Given the description of an element on the screen output the (x, y) to click on. 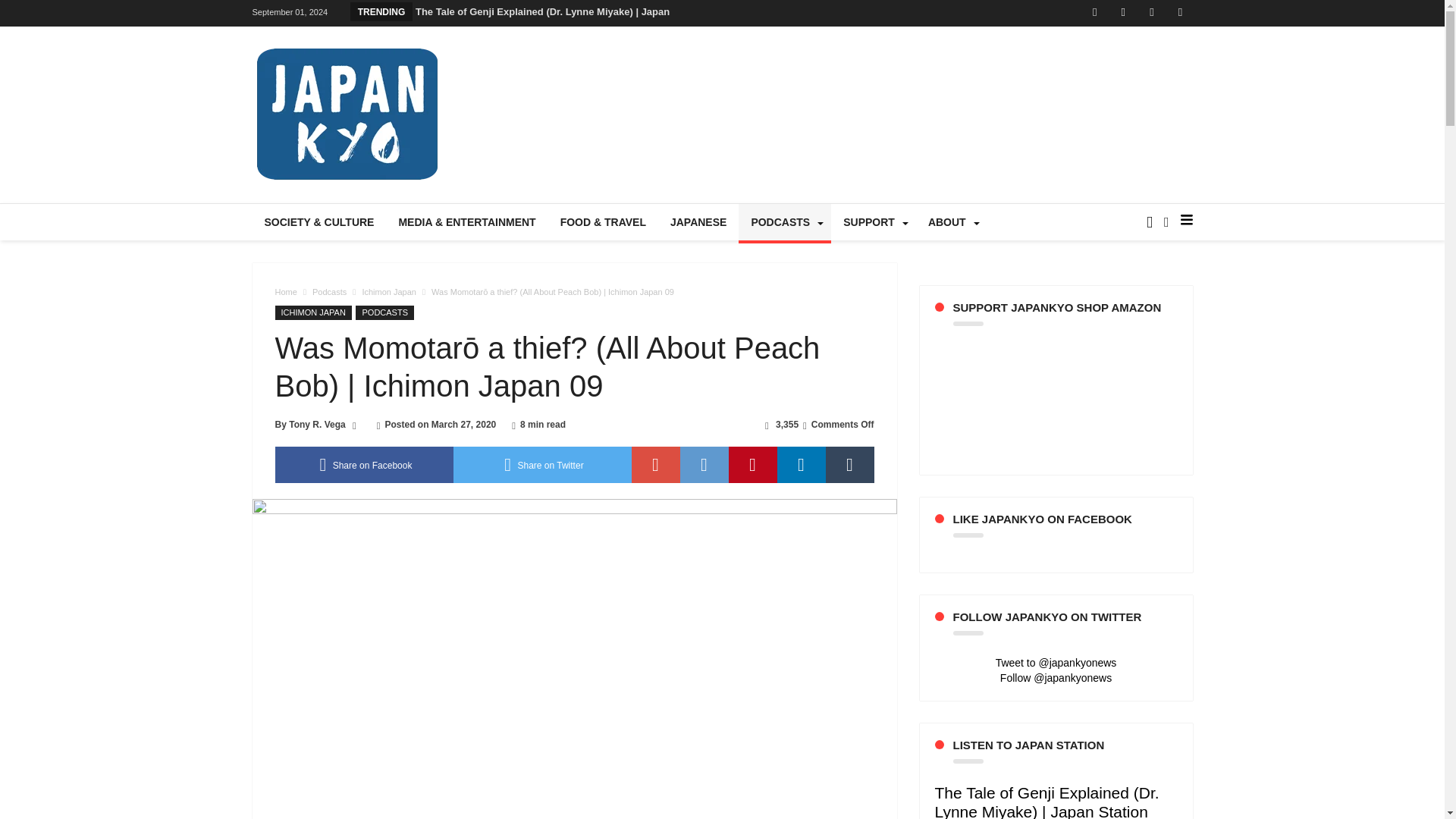
JAPANESE (698, 221)
Twitter (1122, 13)
PODCASTS (784, 221)
Youtube (1151, 13)
Facebook (1094, 13)
Apple (1179, 13)
